Given the description of an element on the screen output the (x, y) to click on. 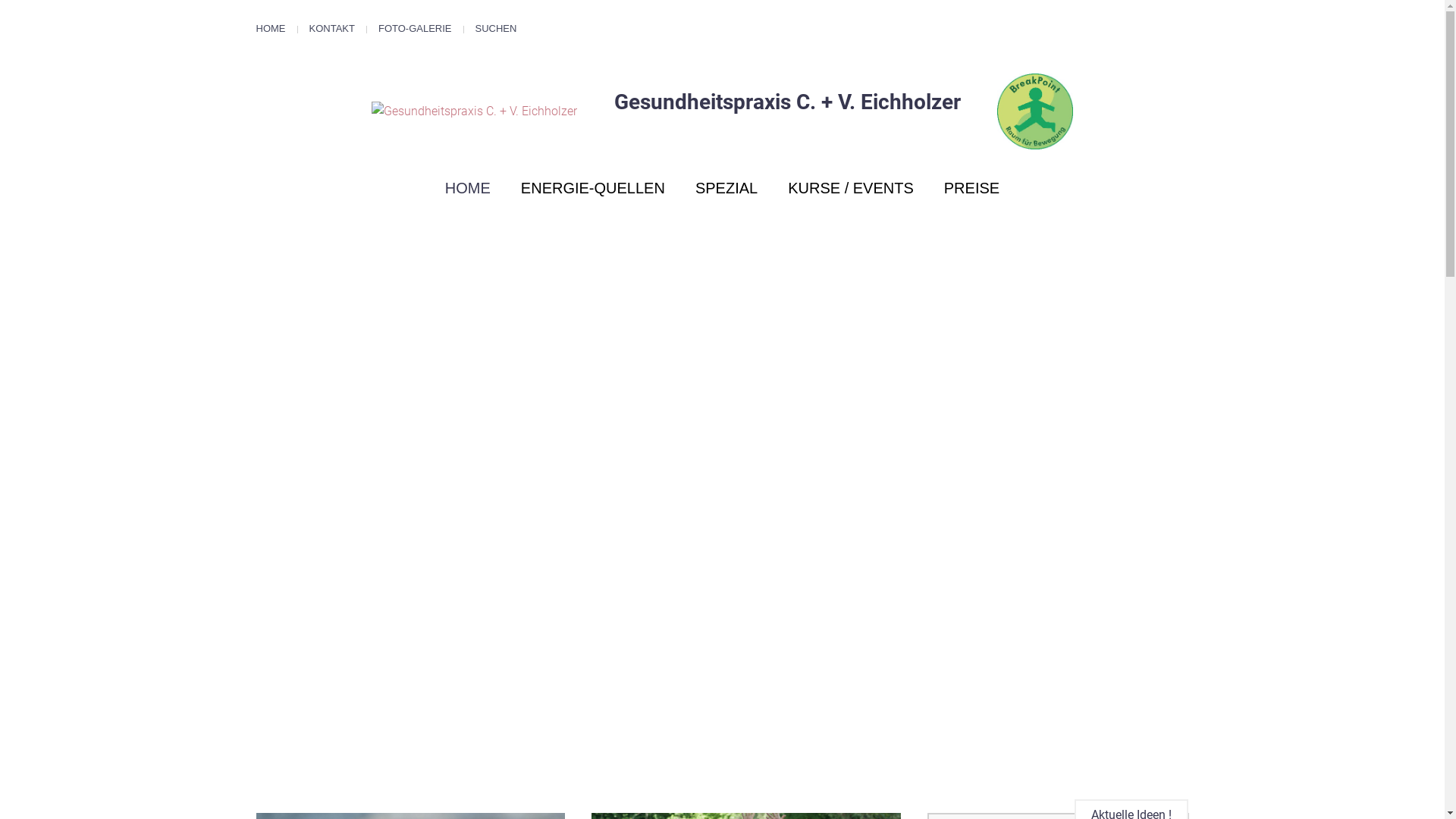
HOME Element type: text (467, 187)
KONTAKT Element type: text (331, 28)
SUCHEN Element type: text (495, 28)
KURSE / EVENTS Element type: text (850, 187)
HOME Element type: text (270, 28)
SPEZIAL Element type: text (726, 187)
PREISE Element type: text (971, 187)
  Gesundheitspraxis C. + V. Eichholzer
  Element type: text (722, 111)
FOTO-GALERIE Element type: text (414, 28)
ENERGIE-QUELLEN Element type: text (592, 187)
